Given the description of an element on the screen output the (x, y) to click on. 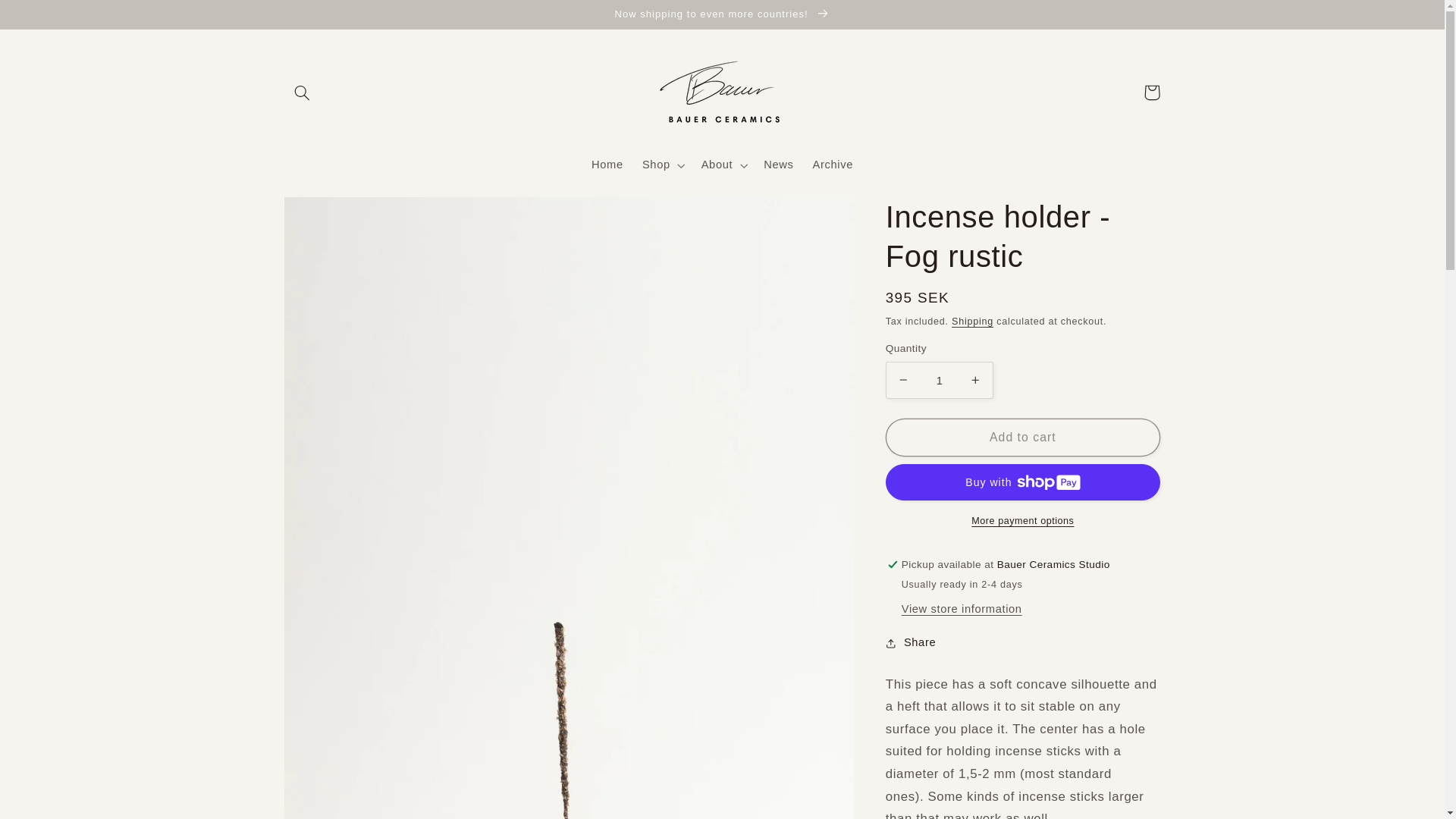
1 (939, 379)
Skip to content (48, 18)
Cart (1151, 92)
News (778, 164)
Skip to product information (331, 214)
Archive (833, 164)
Home (605, 164)
